Given the description of an element on the screen output the (x, y) to click on. 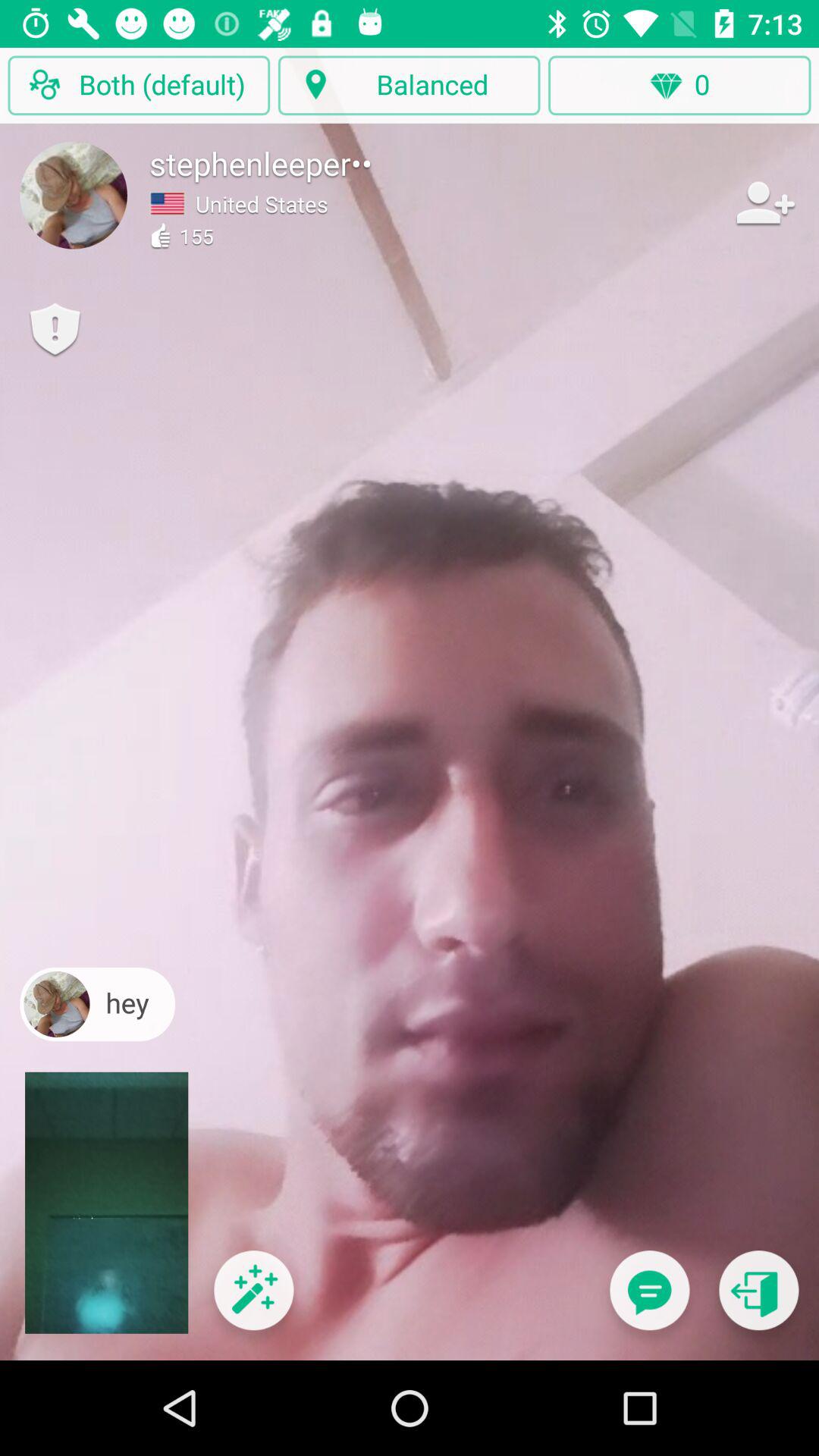
add friend button (763, 202)
